Given the description of an element on the screen output the (x, y) to click on. 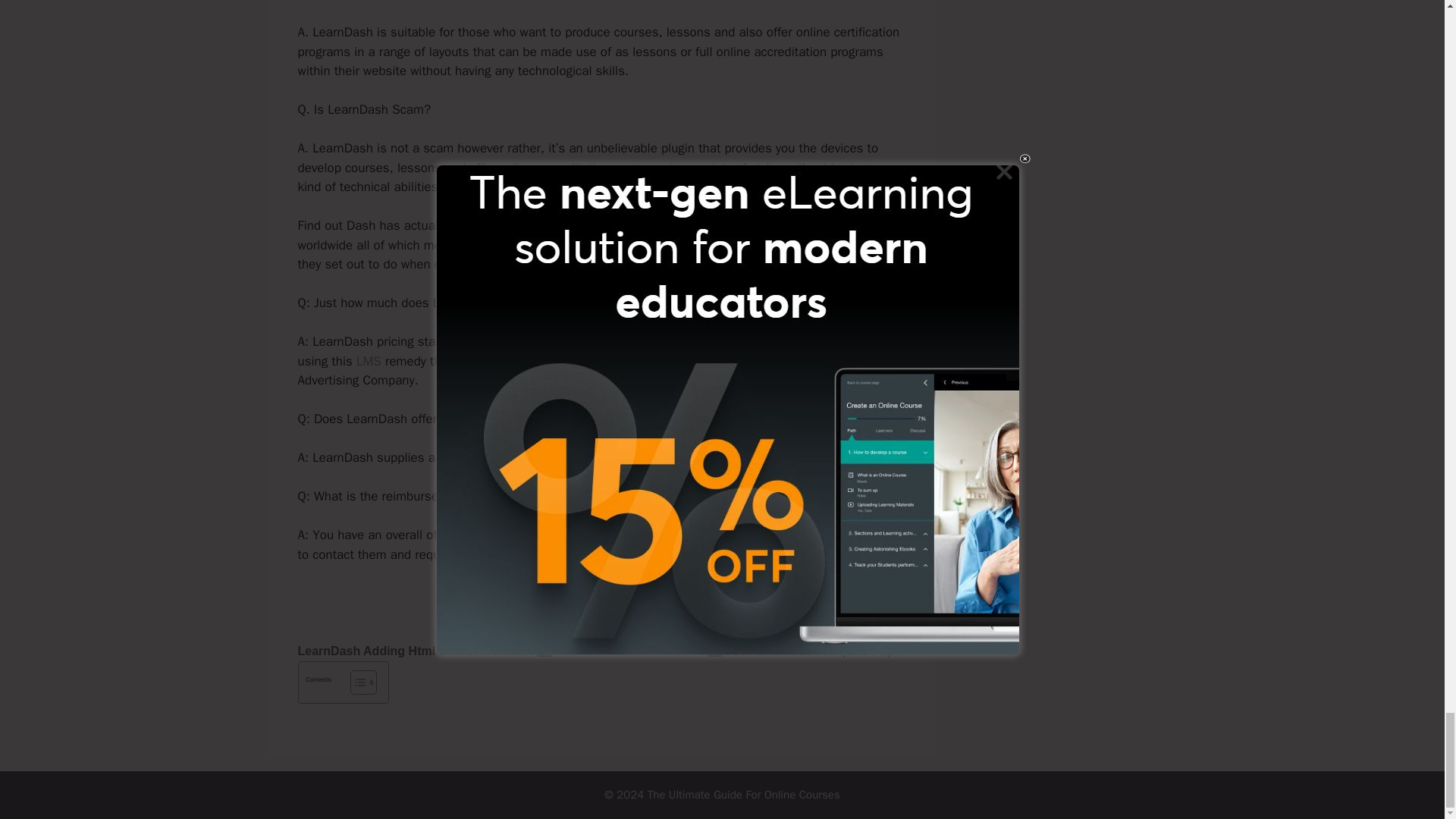
Does LearnDash Require Php 7 (813, 650)
LearnDash Adding Html Interactive Video (416, 650)
LearnDash Adding Html Interactive Video (416, 650)
LMS (368, 360)
Does LearnDash Require Php 7 (813, 650)
